Given the description of an element on the screen output the (x, y) to click on. 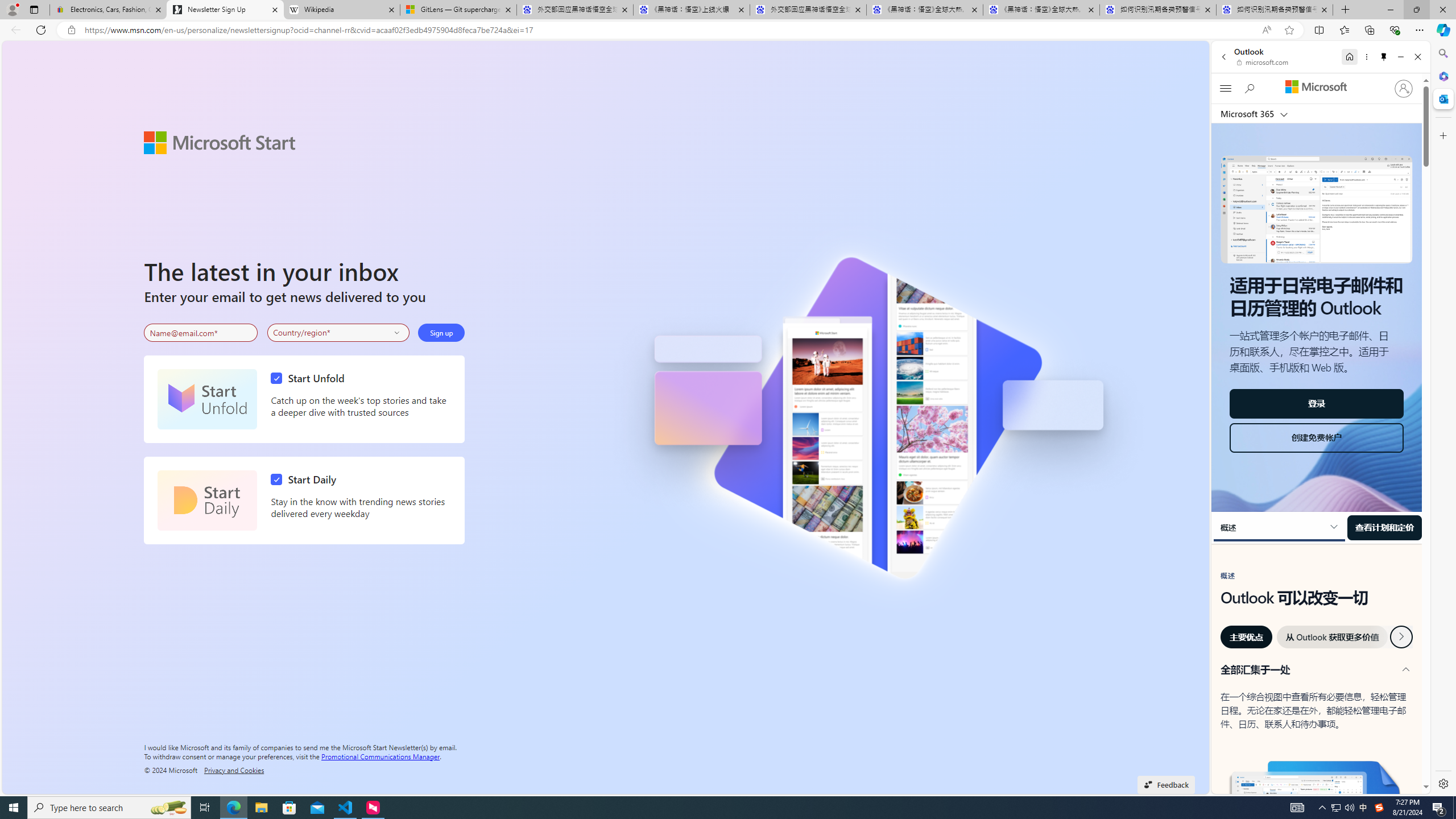
Address and search bar (669, 29)
Favorites (1344, 29)
Close (1417, 56)
Close tab (1324, 9)
Restore (1416, 9)
